Given the description of an element on the screen output the (x, y) to click on. 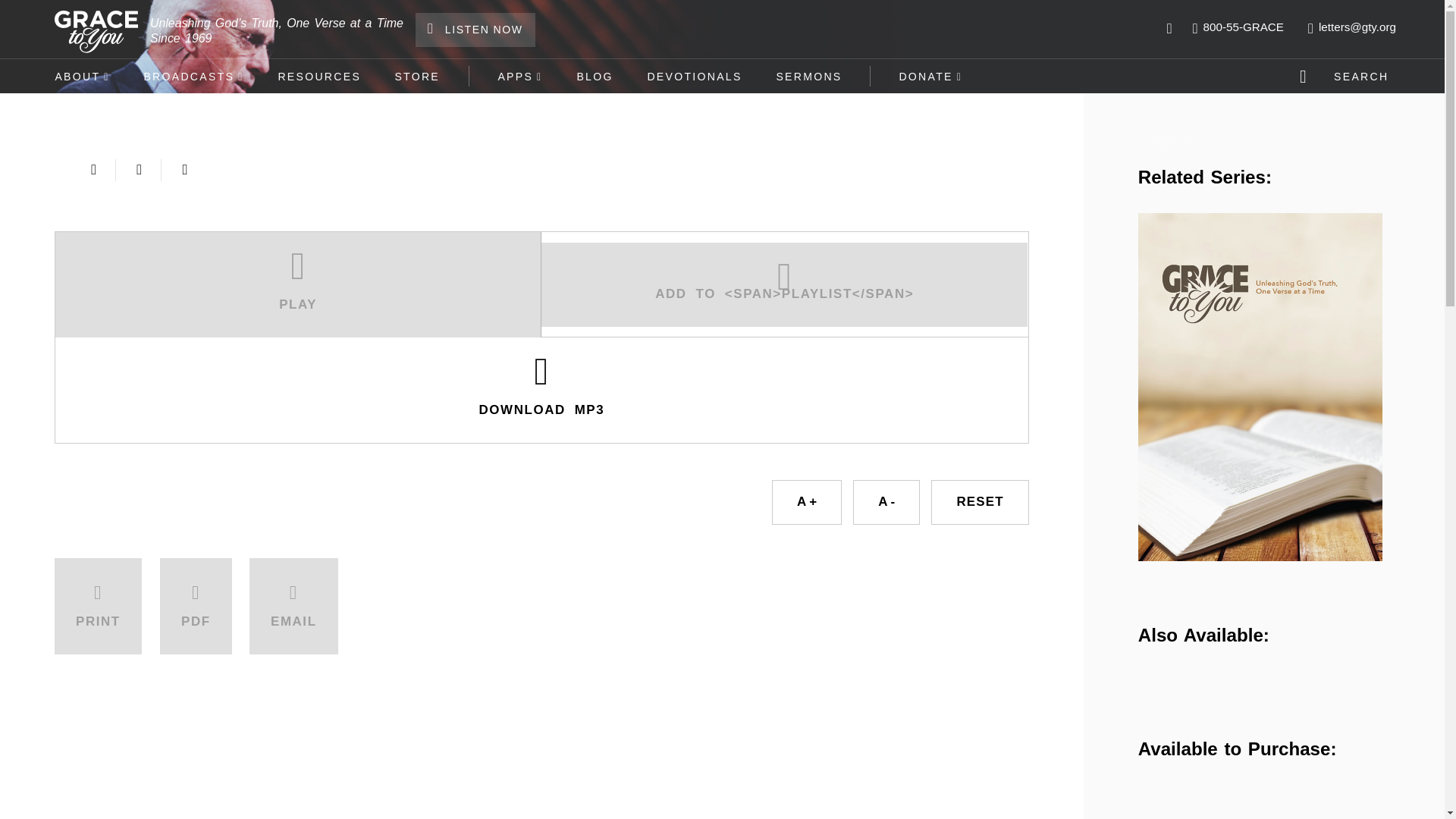
SERMONS (808, 76)
STORE (417, 76)
DONATE (930, 76)
RESOURCES (318, 76)
DEVOTIONALS (694, 76)
BROADCASTS (193, 76)
800-55-GRACE (1237, 28)
ABOUT (81, 76)
Grace to You (1174, 148)
SEARCH (1347, 76)
